Given the description of an element on the screen output the (x, y) to click on. 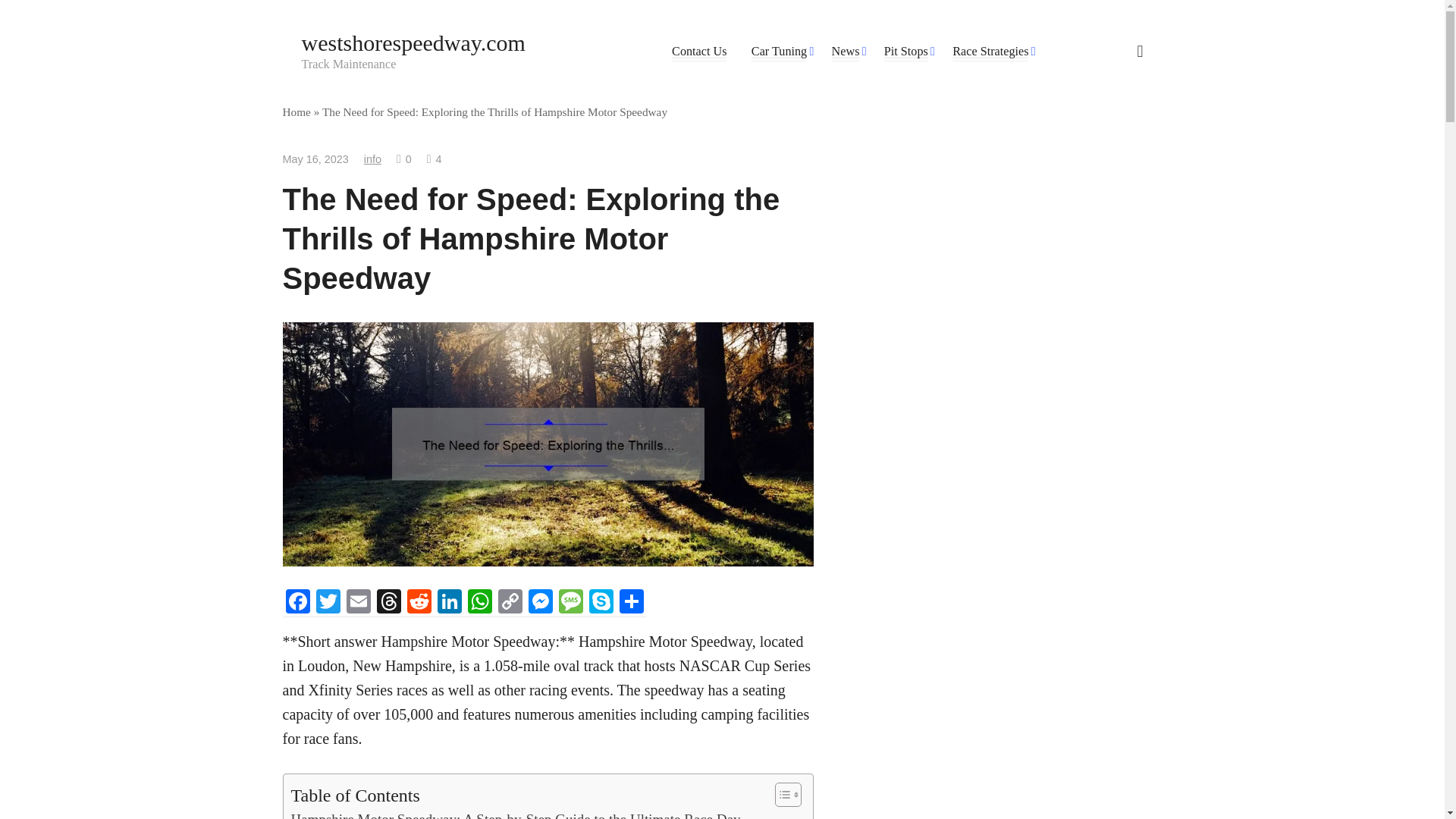
Facebook (297, 602)
westshorespeedway.com (413, 42)
News (845, 51)
Twitter (327, 602)
WhatsApp (479, 602)
Copy Link (509, 602)
LinkedIn (448, 602)
Message (569, 602)
Contact Us (698, 51)
Messenger (539, 602)
Reddit (418, 602)
Car Tuning (778, 51)
Threads (387, 602)
Email (357, 602)
